Given the description of an element on the screen output the (x, y) to click on. 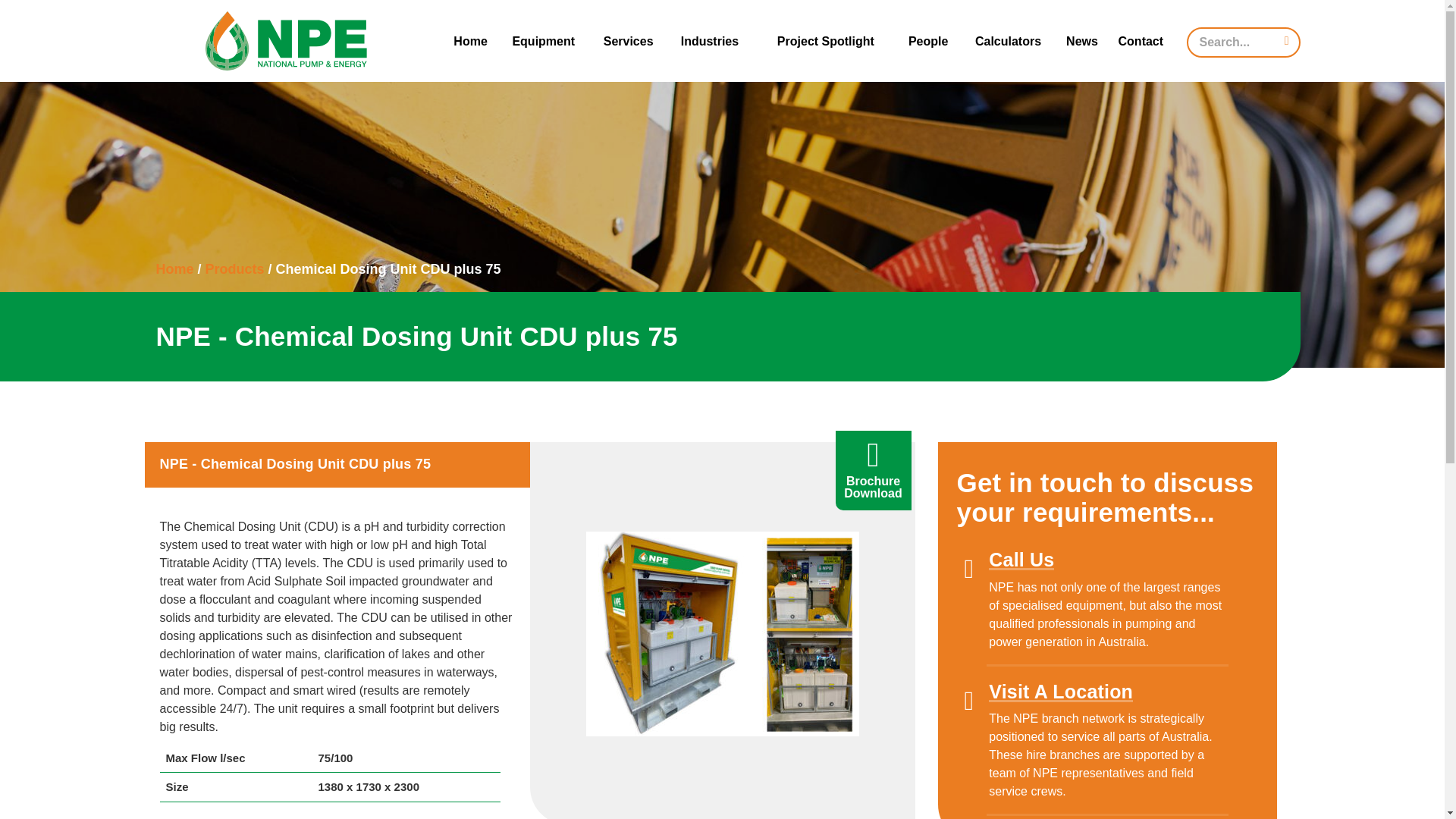
Contact (1139, 41)
Search (26, 11)
Chemical Dosing Unit CDU plus 75 (722, 633)
Equipment (543, 41)
People (928, 41)
Industries (709, 41)
Calculators (1008, 41)
Project Spotlight (825, 41)
Home (470, 41)
Services (628, 41)
News (1081, 41)
